Given the description of an element on the screen output the (x, y) to click on. 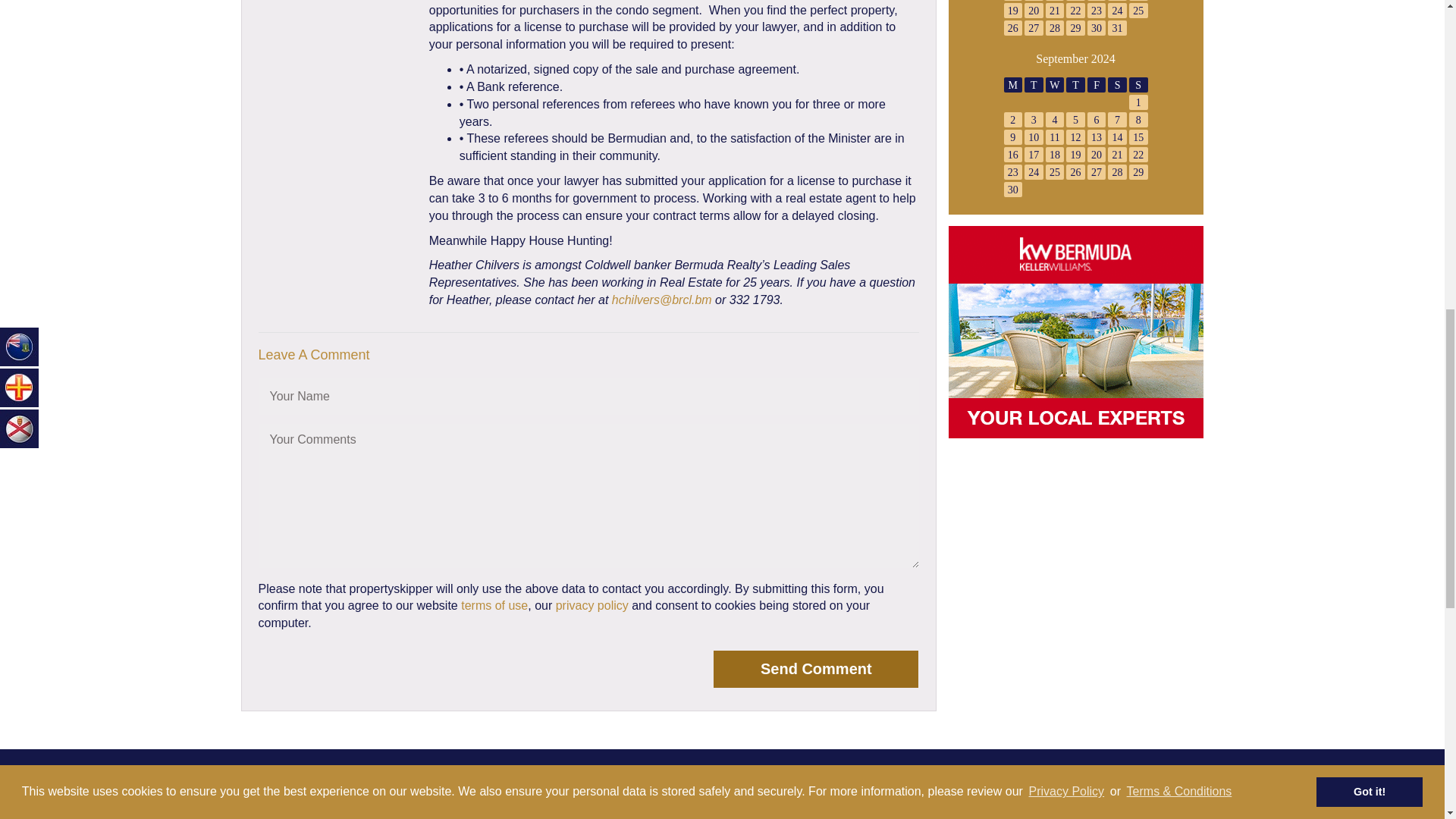
Your Name (587, 396)
